Given the description of an element on the screen output the (x, y) to click on. 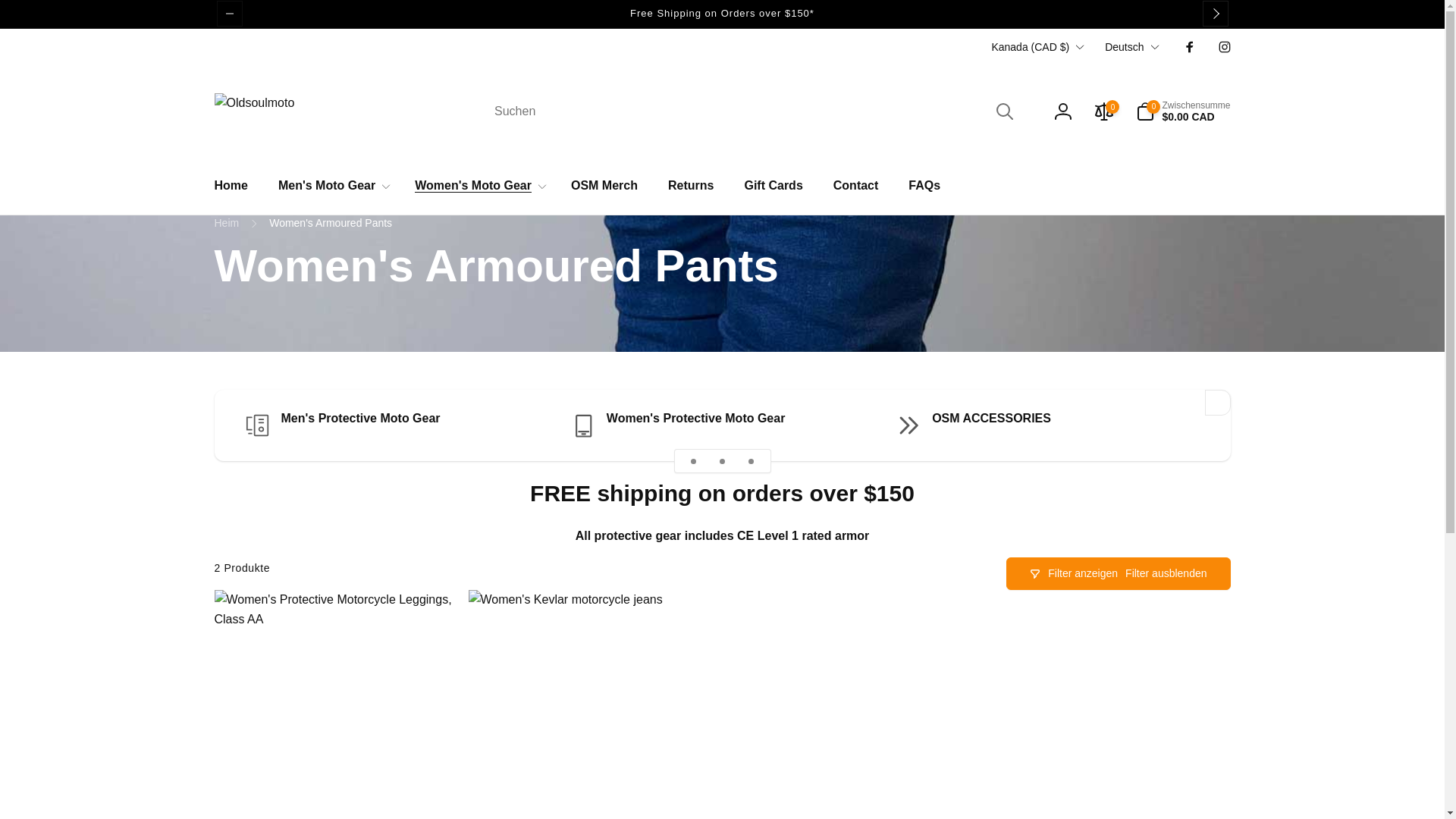
Direkt zum Inhalt (23, 9)
